Given the description of an element on the screen output the (x, y) to click on. 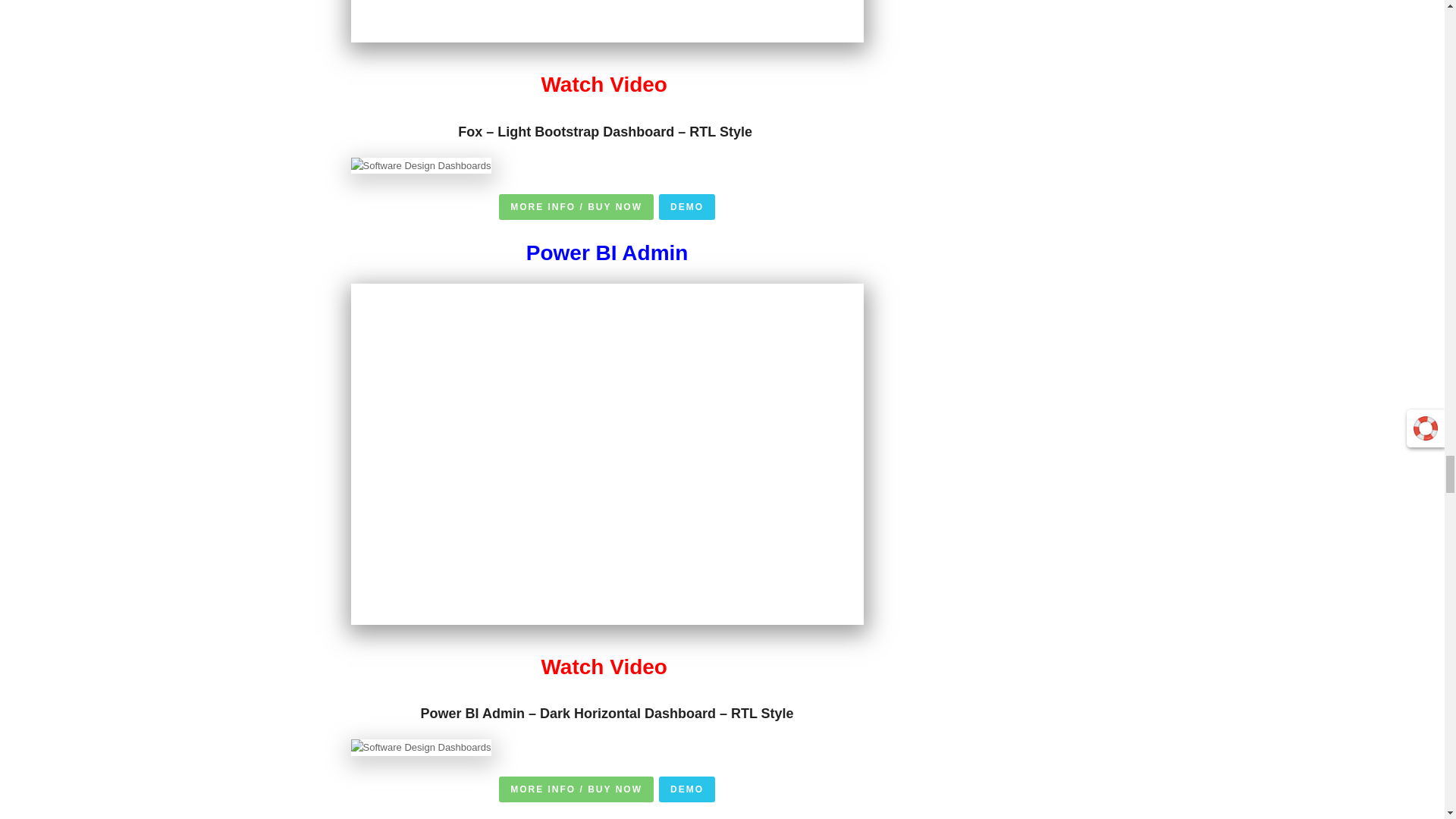
YouTube video player (606, 21)
